Given the description of an element on the screen output the (x, y) to click on. 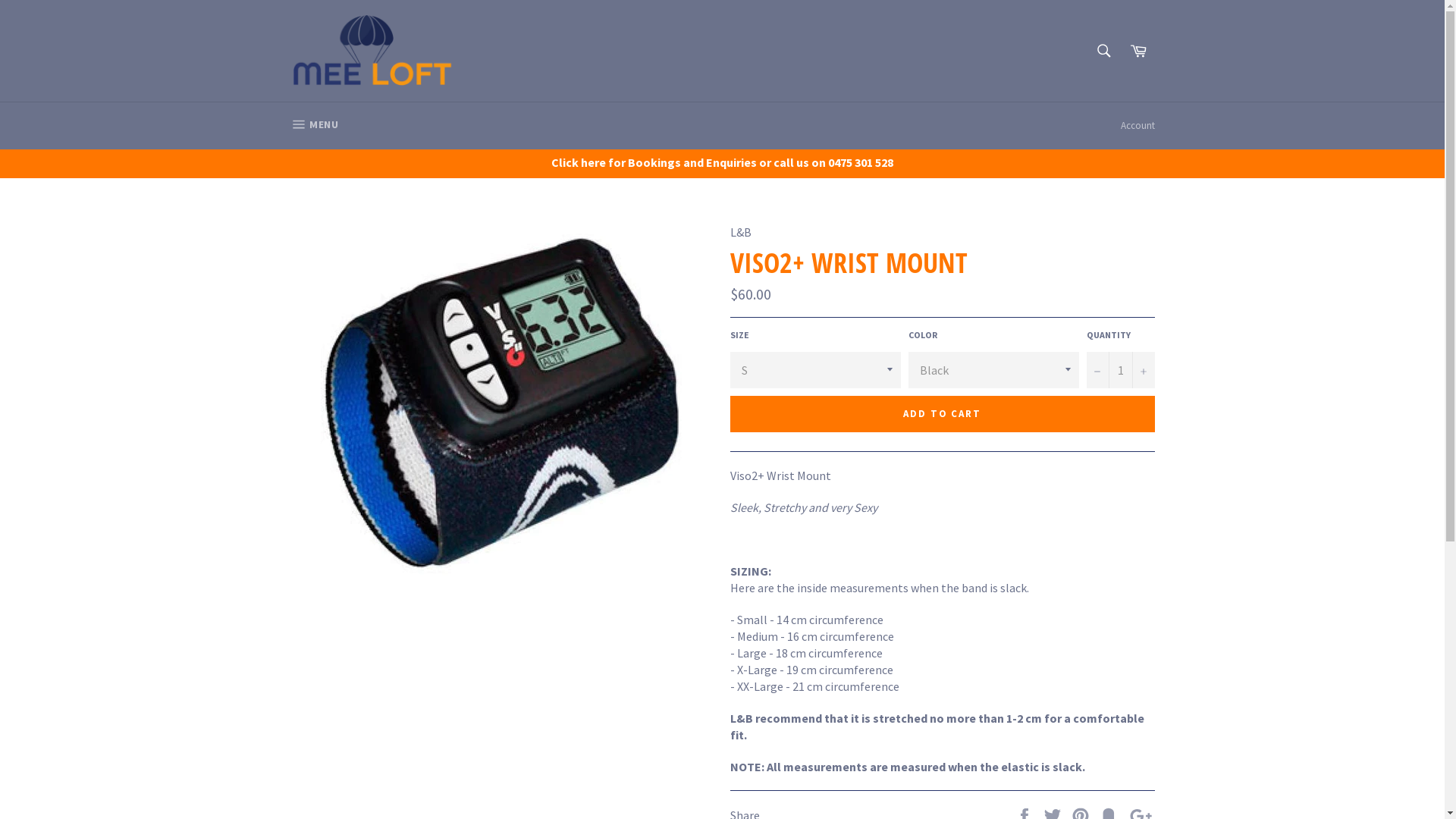
Account Element type: text (1137, 125)
Cart Element type: text (1138, 50)
Search Element type: text (1104, 50)
+ Element type: text (1142, 369)
ADD TO CART Element type: text (941, 413)
MENU
SITE NAVIGATION Element type: text (313, 125)
